Given the description of an element on the screen output the (x, y) to click on. 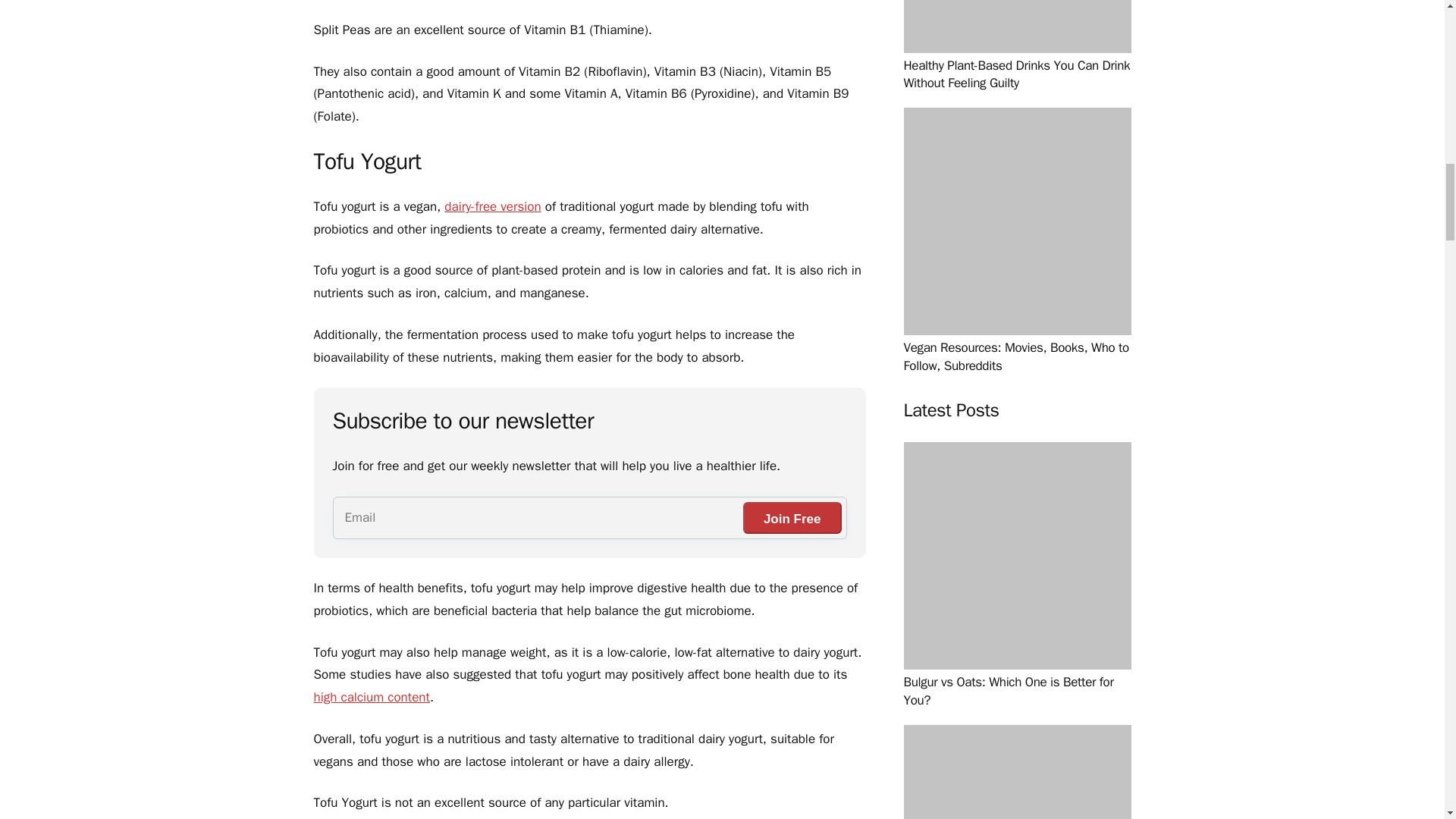
dairy-free version (492, 206)
Join Free (791, 517)
high calcium content (371, 697)
